Given the description of an element on the screen output the (x, y) to click on. 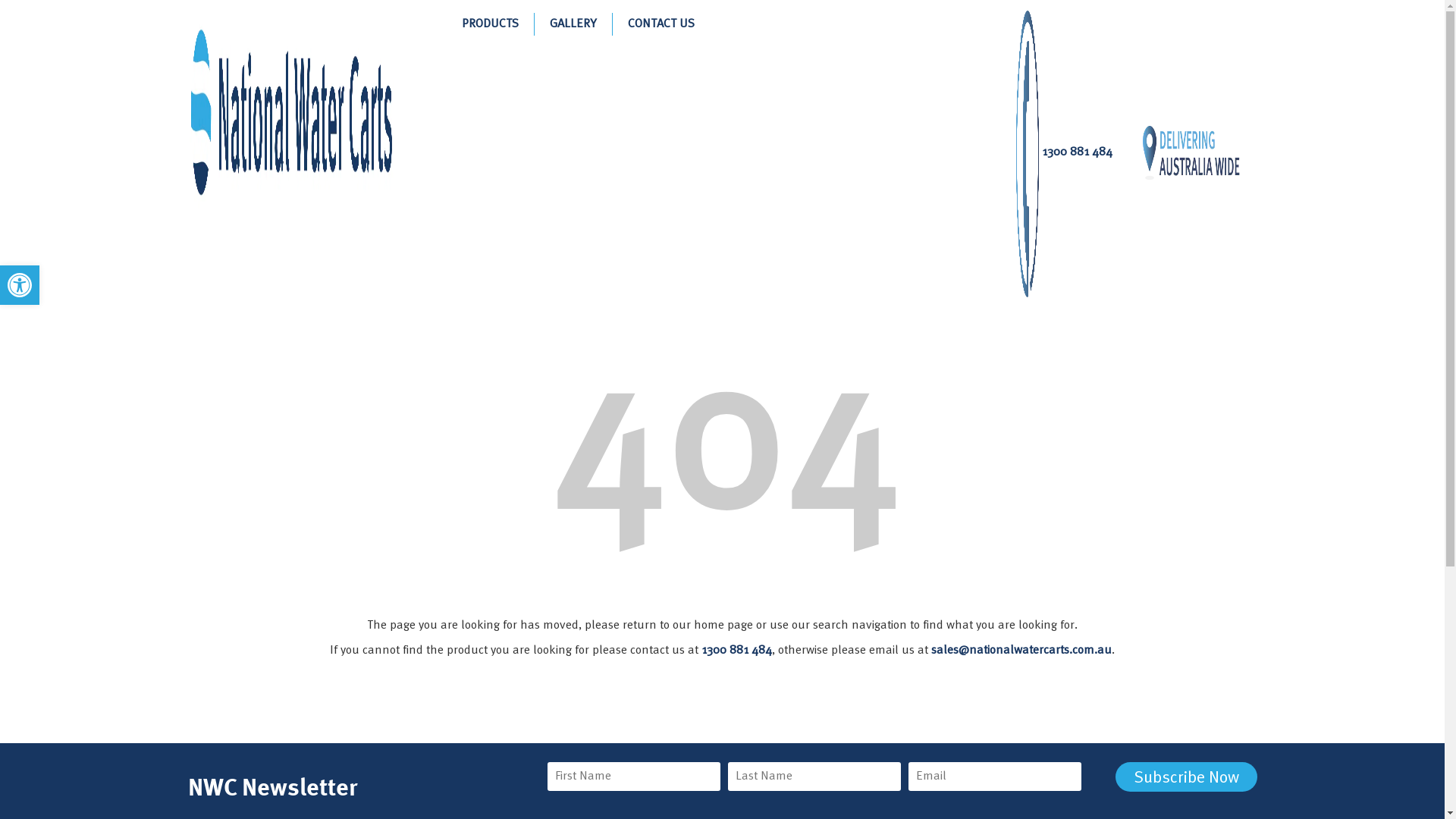
sales@nationalwatercarts.com.au Element type: text (1021, 650)
1300 881 484 Element type: text (736, 650)
CONTACT US Element type: text (660, 23)
Subscribe Now Element type: text (1185, 776)
PRODUCTS Element type: text (489, 23)
Open toolbar
Accessibility Tools Element type: text (19, 284)
1300 881 484 Element type: text (1064, 153)
GALLERY Element type: text (572, 23)
